Given the description of an element on the screen output the (x, y) to click on. 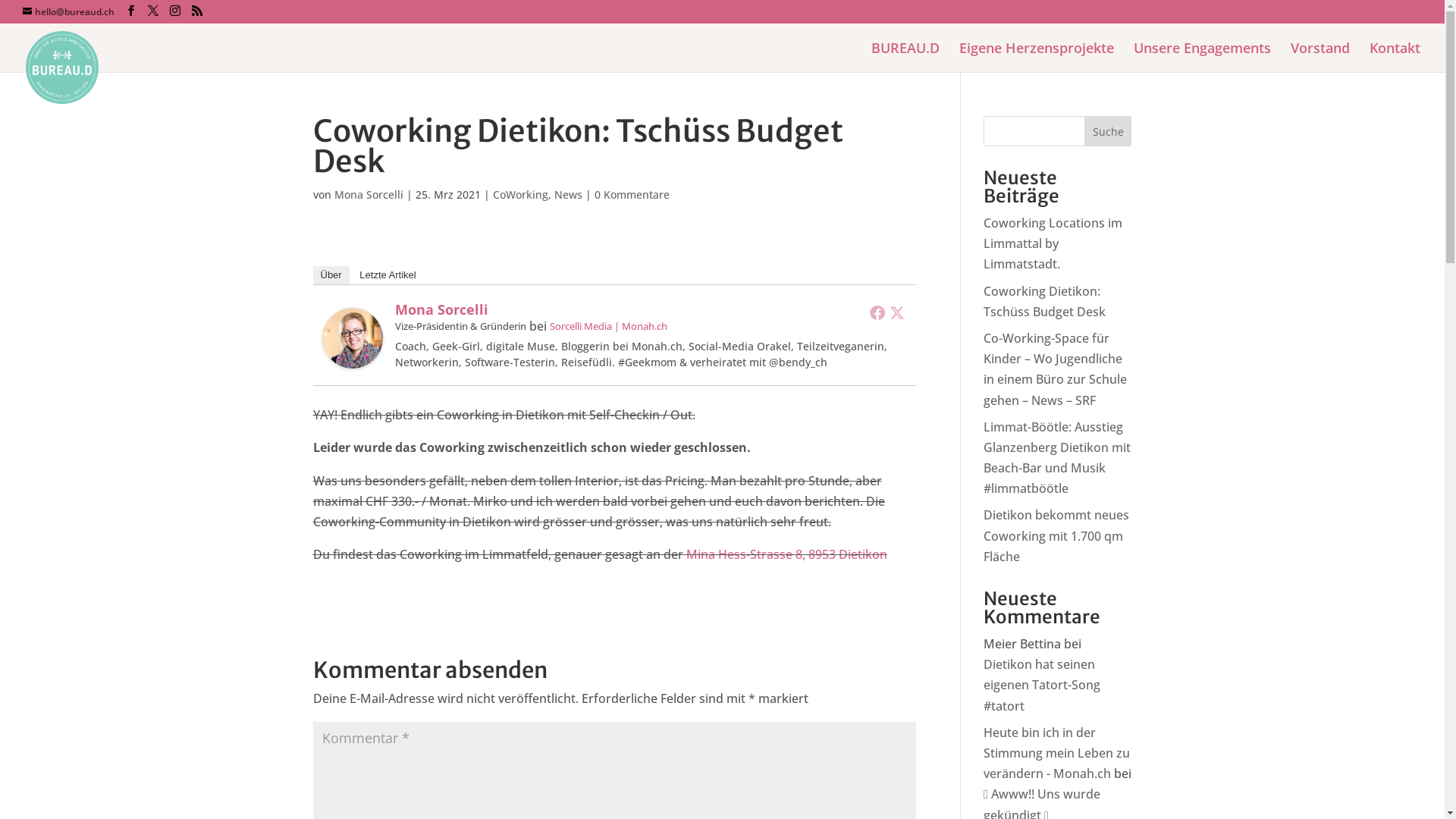
Eigene Herzensprojekte Element type: text (1036, 57)
Dietikon hat seinen eigenen Tatort-Song #tatort Element type: text (1041, 684)
Mona Sorcelli Element type: hover (351, 357)
Mona Sorcelli Element type: text (440, 309)
BUREAU.D Element type: text (905, 57)
Coworking Locations im Limmattal by Limmatstadt. Element type: text (1052, 243)
Suche Element type: text (1108, 131)
Facebook Element type: hover (877, 312)
Letzte Artikel Element type: text (387, 275)
Twitter Element type: hover (897, 312)
CoWorking Element type: text (520, 194)
0 Kommentare Element type: text (631, 194)
News Element type: text (567, 194)
Kontakt Element type: text (1394, 57)
Mona Sorcelli Element type: text (367, 194)
Mina Hess-Strasse 8, 8953 Dietikon Element type: text (785, 554)
hello@bureaud.ch Element type: text (68, 11)
Unsere Engagements Element type: text (1201, 57)
Sorcelli Media | Monah.ch Element type: text (607, 325)
Vorstand Element type: text (1319, 57)
